Given the description of an element on the screen output the (x, y) to click on. 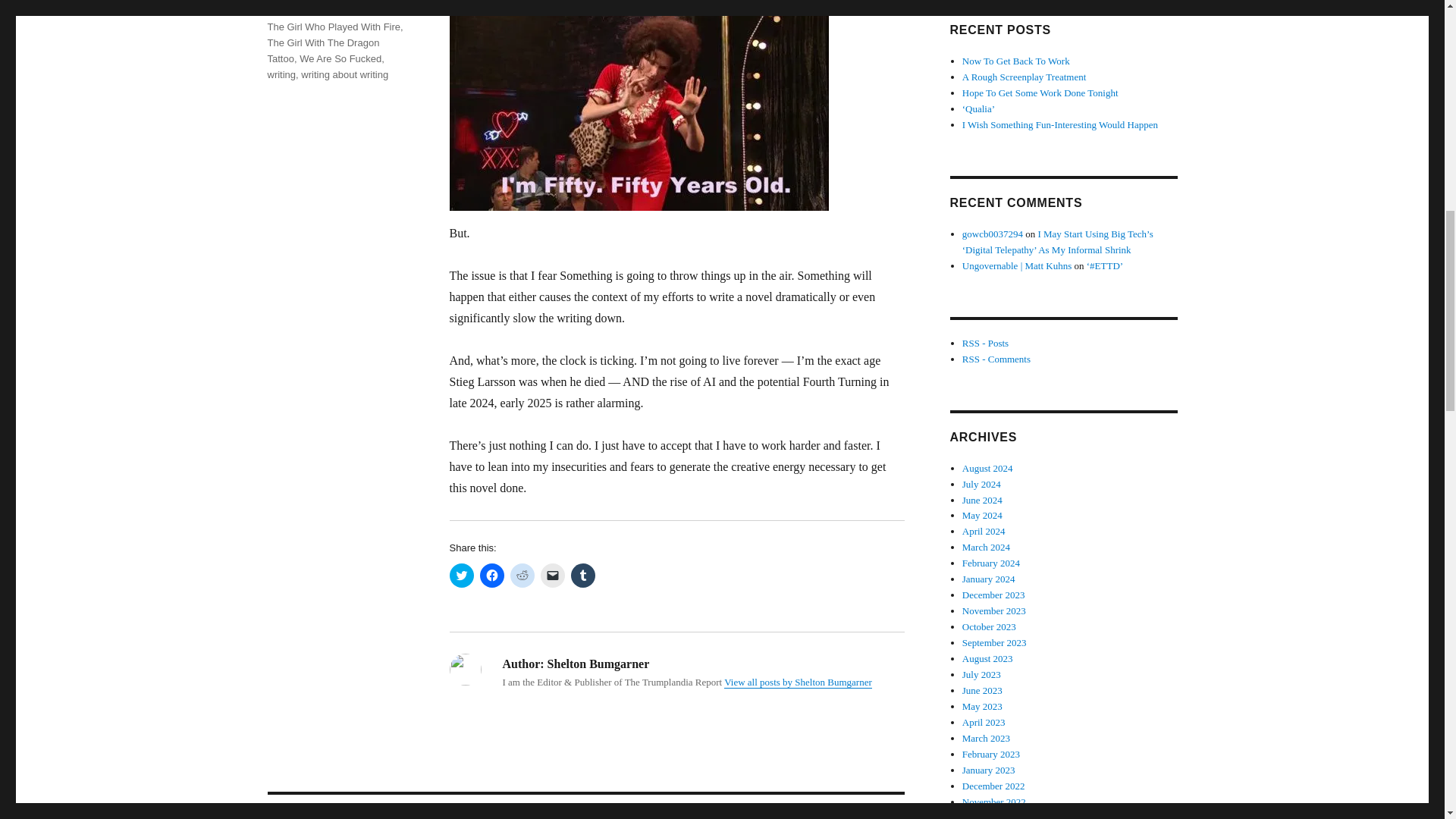
I Wish Something Fun-Interesting Would Happen (1059, 124)
A Rough Screenplay Treatment (1024, 76)
Subscribe to posts (985, 342)
Subscribe to comments (996, 358)
Click to email a link to a friend (552, 575)
The Girl With The Dragon Tattoo (322, 50)
We Are So Fucked (340, 58)
writing (280, 74)
writing about writing (344, 74)
Second American Revolution (329, 10)
